Given the description of an element on the screen output the (x, y) to click on. 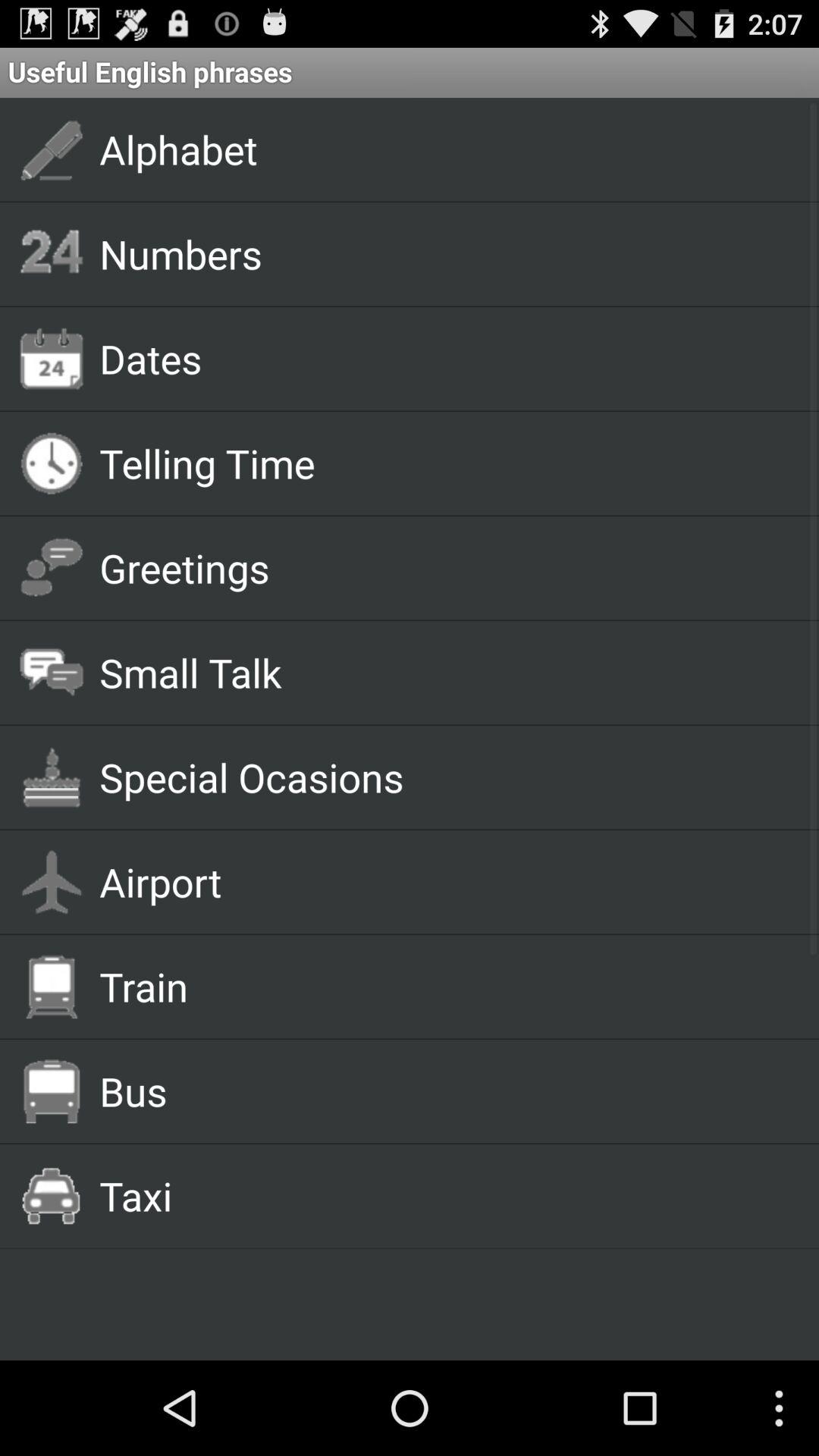
turn on special ocasions (441, 776)
